Given the description of an element on the screen output the (x, y) to click on. 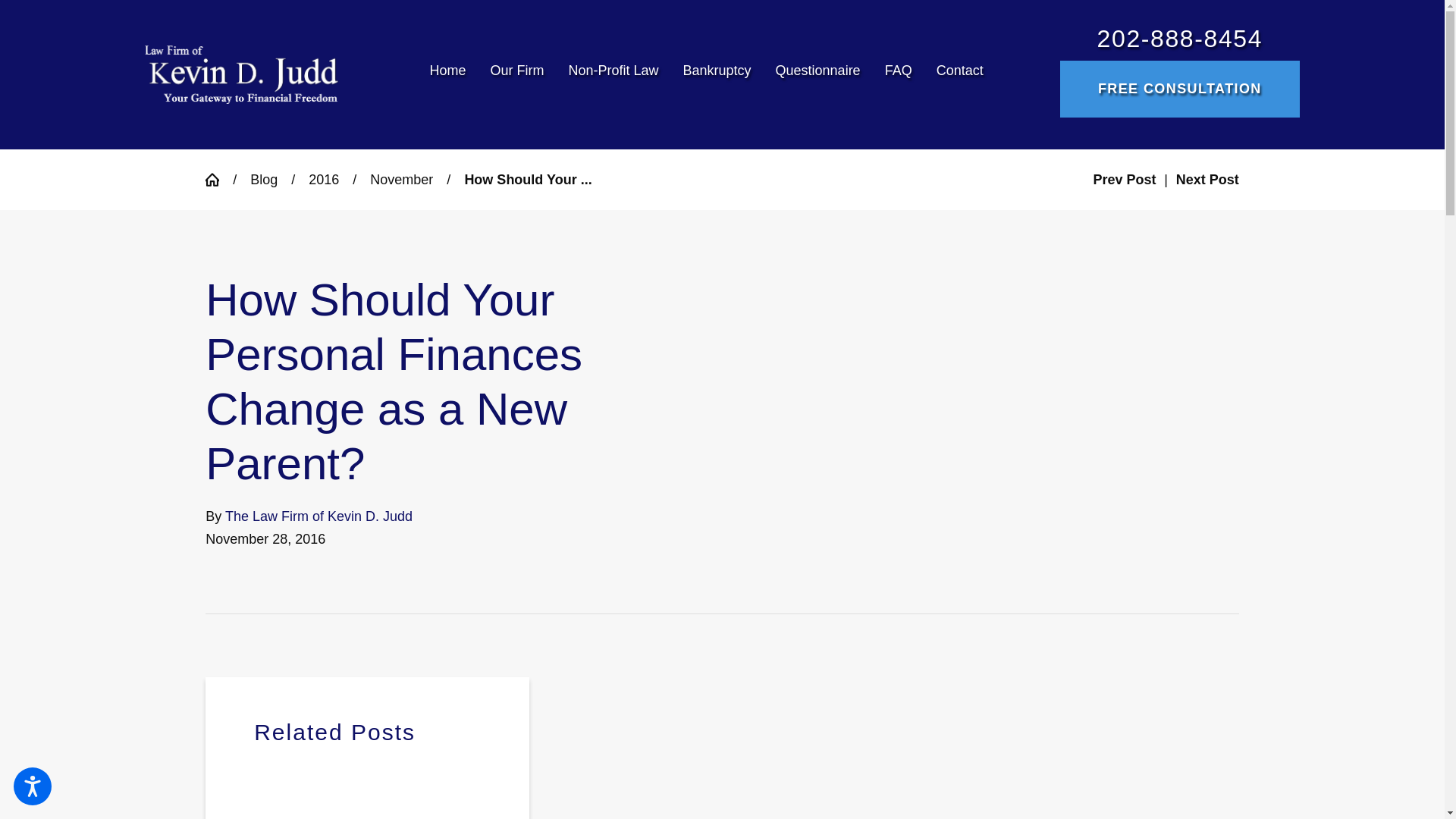
Blog (264, 179)
Questionnaire (817, 74)
November (400, 179)
Next Post (1207, 179)
FAQ (898, 74)
Home (453, 74)
Contact (954, 74)
202-888-8454 (1179, 38)
Bankruptcy (716, 74)
Law Firm of Kevin D. Judd (241, 74)
